Given the description of an element on the screen output the (x, y) to click on. 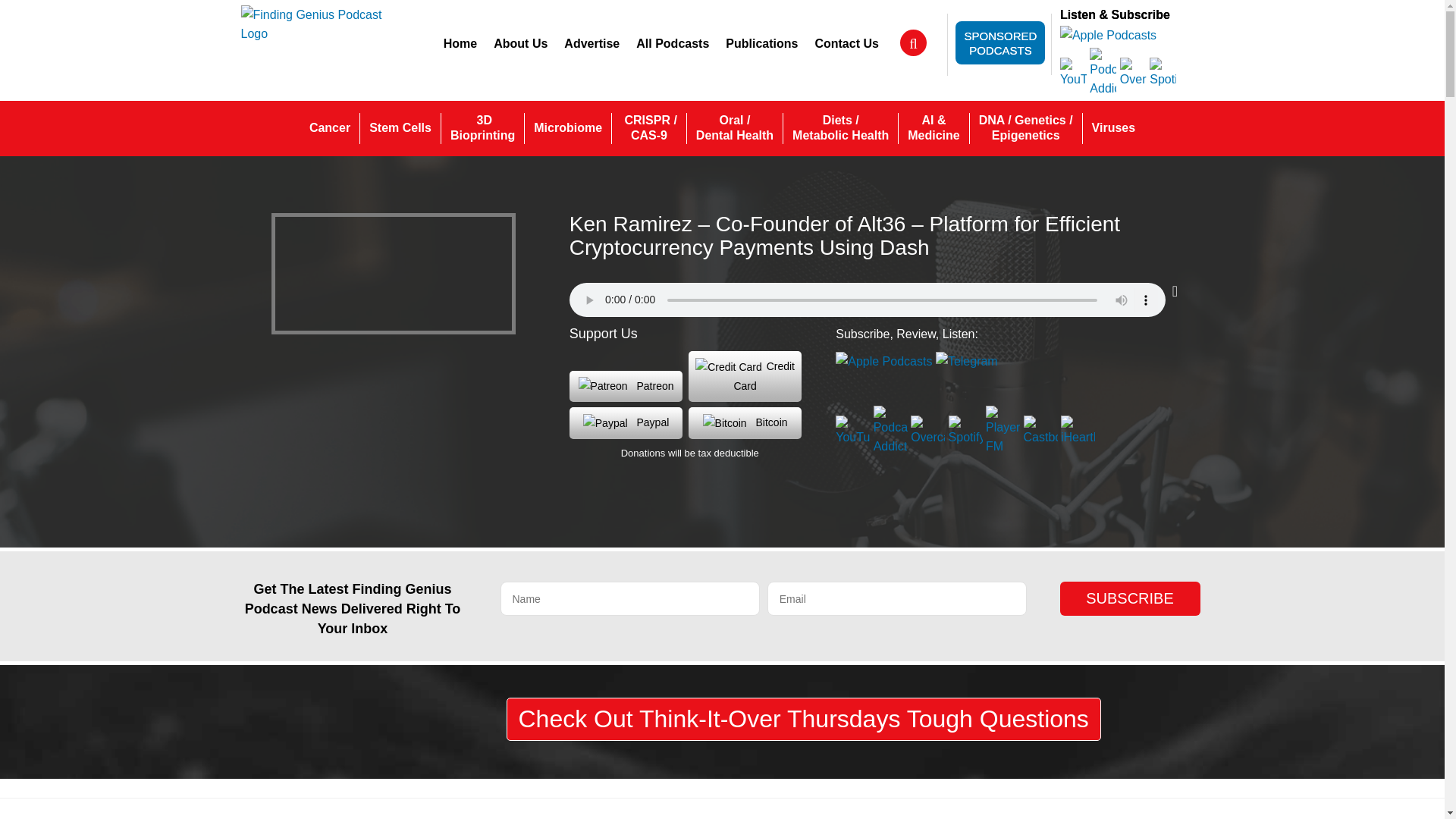
All Podcasts (672, 43)
Finding Genius Podcast (311, 22)
Stem Cells (400, 128)
Apple Podcasts (1107, 33)
Patreon (625, 386)
About Us (520, 43)
Subscribe (1129, 598)
Viruses (1113, 128)
Publications (761, 43)
Credit Card (745, 376)
